Given the description of an element on the screen output the (x, y) to click on. 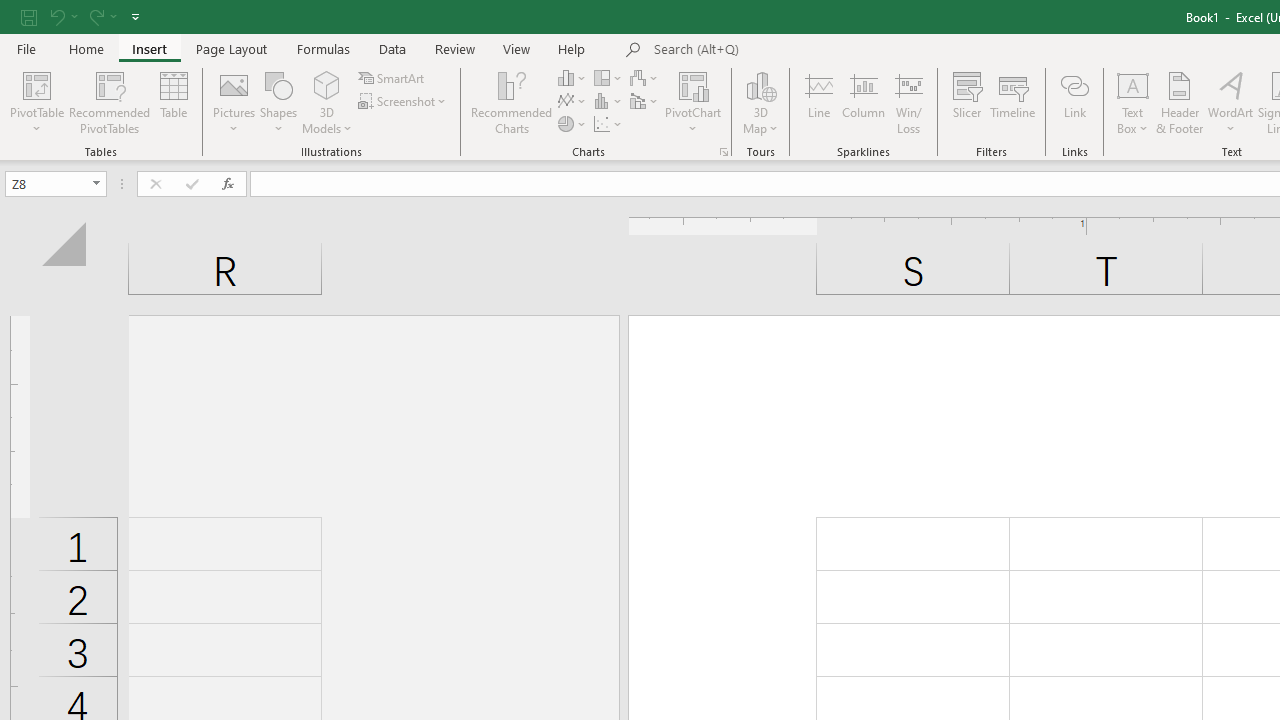
Win/Loss (909, 102)
PivotChart (693, 84)
Screenshot (403, 101)
Insert Waterfall, Funnel, Stock, Surface, or Radar Chart (645, 78)
PivotTable (36, 102)
Header & Footer... (1179, 102)
Insert Column or Bar Chart (573, 78)
3D Map (760, 102)
Recommended Charts (723, 151)
WordArt (1230, 102)
